Given the description of an element on the screen output the (x, y) to click on. 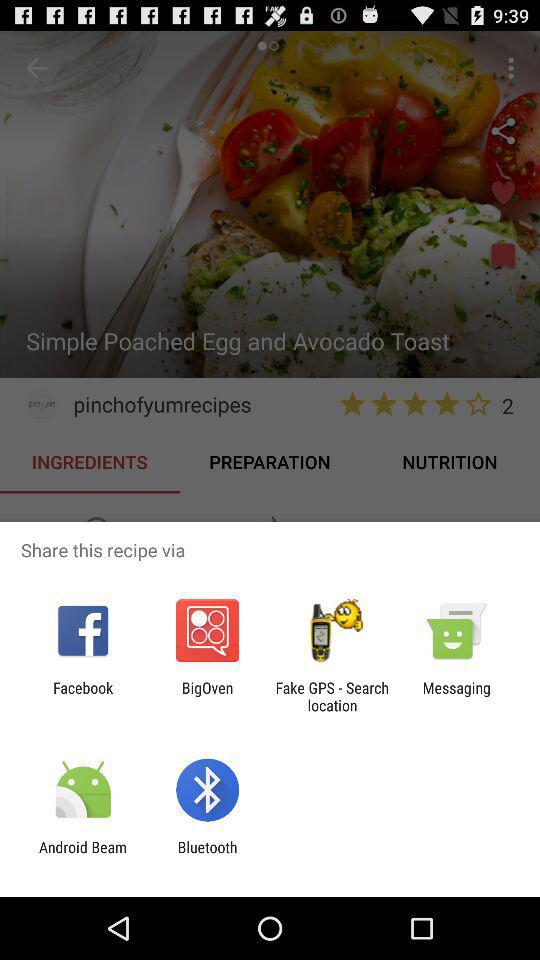
jump to the fake gps search (332, 696)
